Given the description of an element on the screen output the (x, y) to click on. 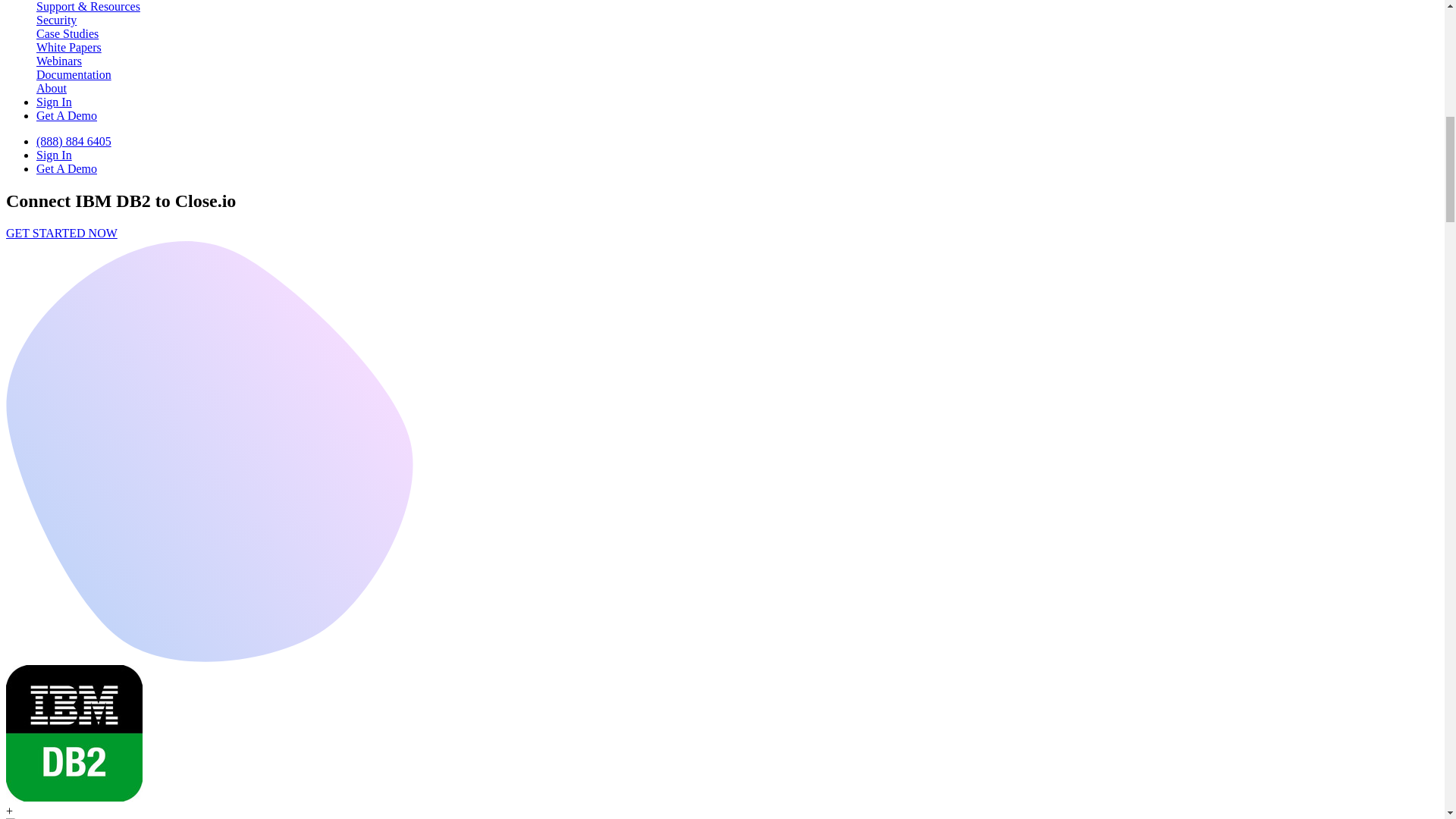
Sign In (53, 154)
GET STARTED NOW (61, 232)
Get A Demo (66, 115)
Get A Demo (66, 168)
Sign In (53, 101)
